Given the description of an element on the screen output the (x, y) to click on. 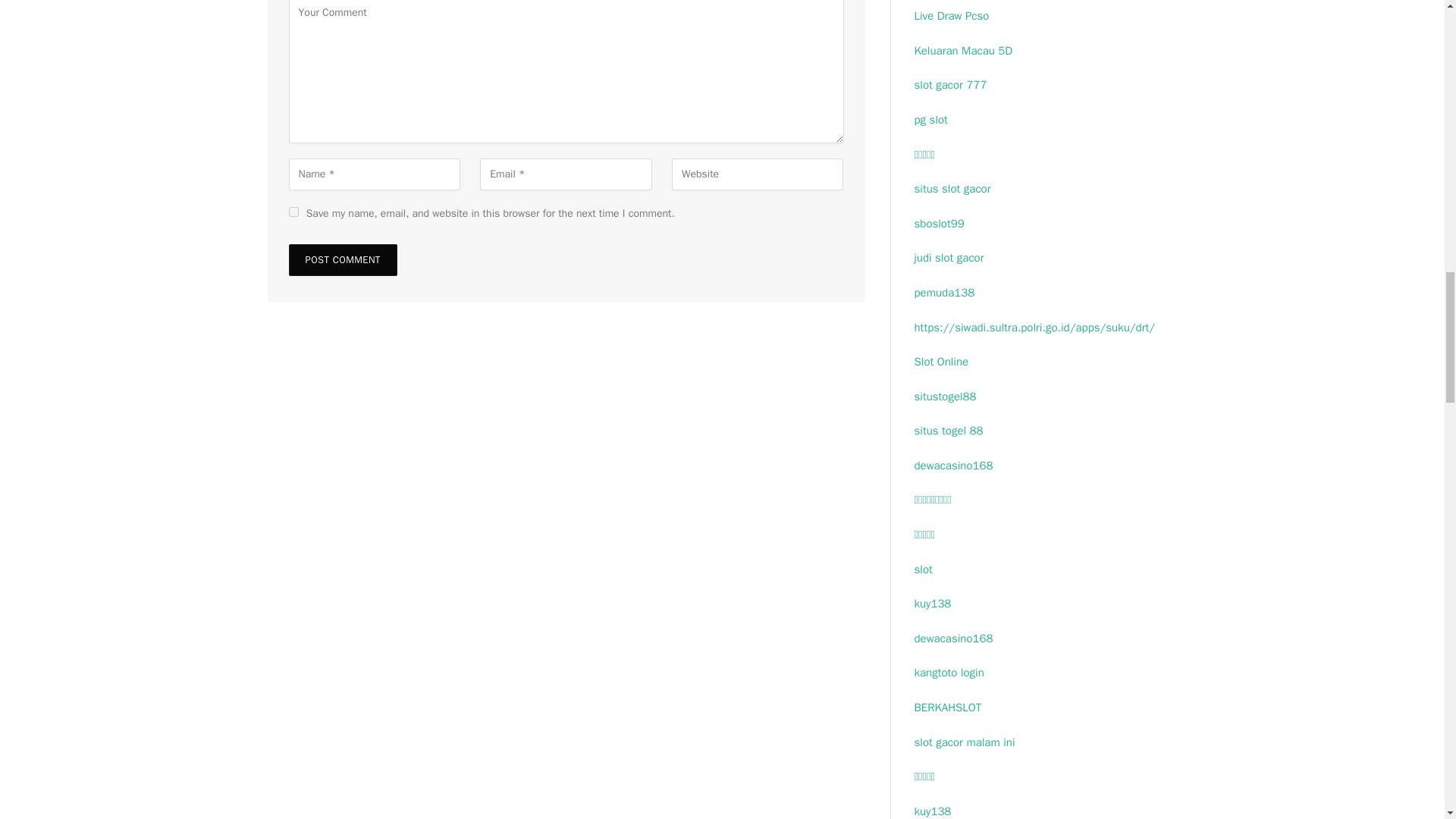
yes (293, 212)
Post Comment (342, 260)
Post Comment (342, 260)
